Given the description of an element on the screen output the (x, y) to click on. 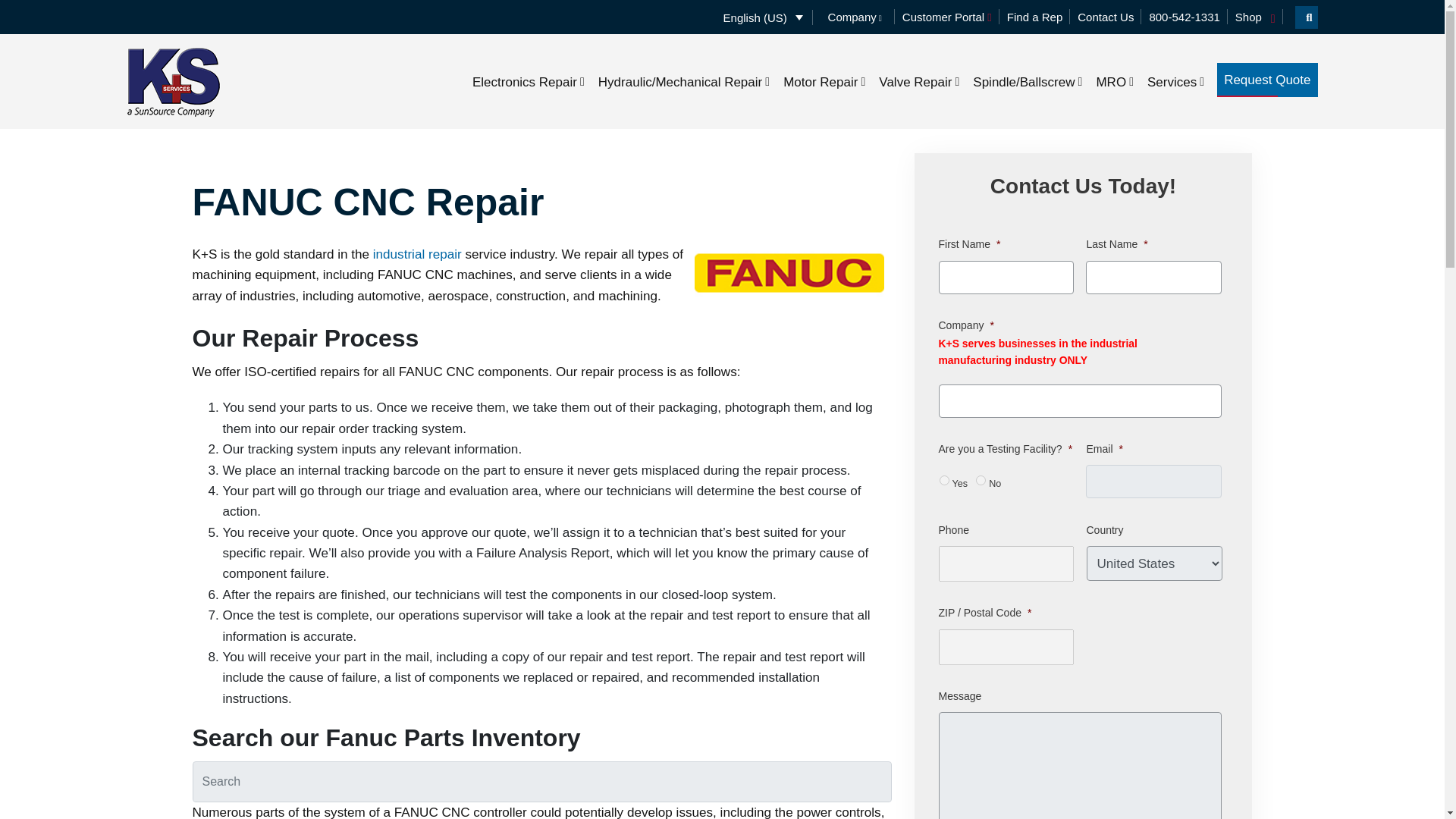
Contact Us (1105, 16)
Find a Rep (1034, 16)
Valve Repair (919, 81)
Shop (1248, 16)
Electronics Repair (528, 81)
Customer Portal (946, 16)
yes (944, 480)
800-542-1331 (1184, 16)
Company (853, 17)
Motor Repair (824, 81)
no (980, 480)
